Given the description of an element on the screen output the (x, y) to click on. 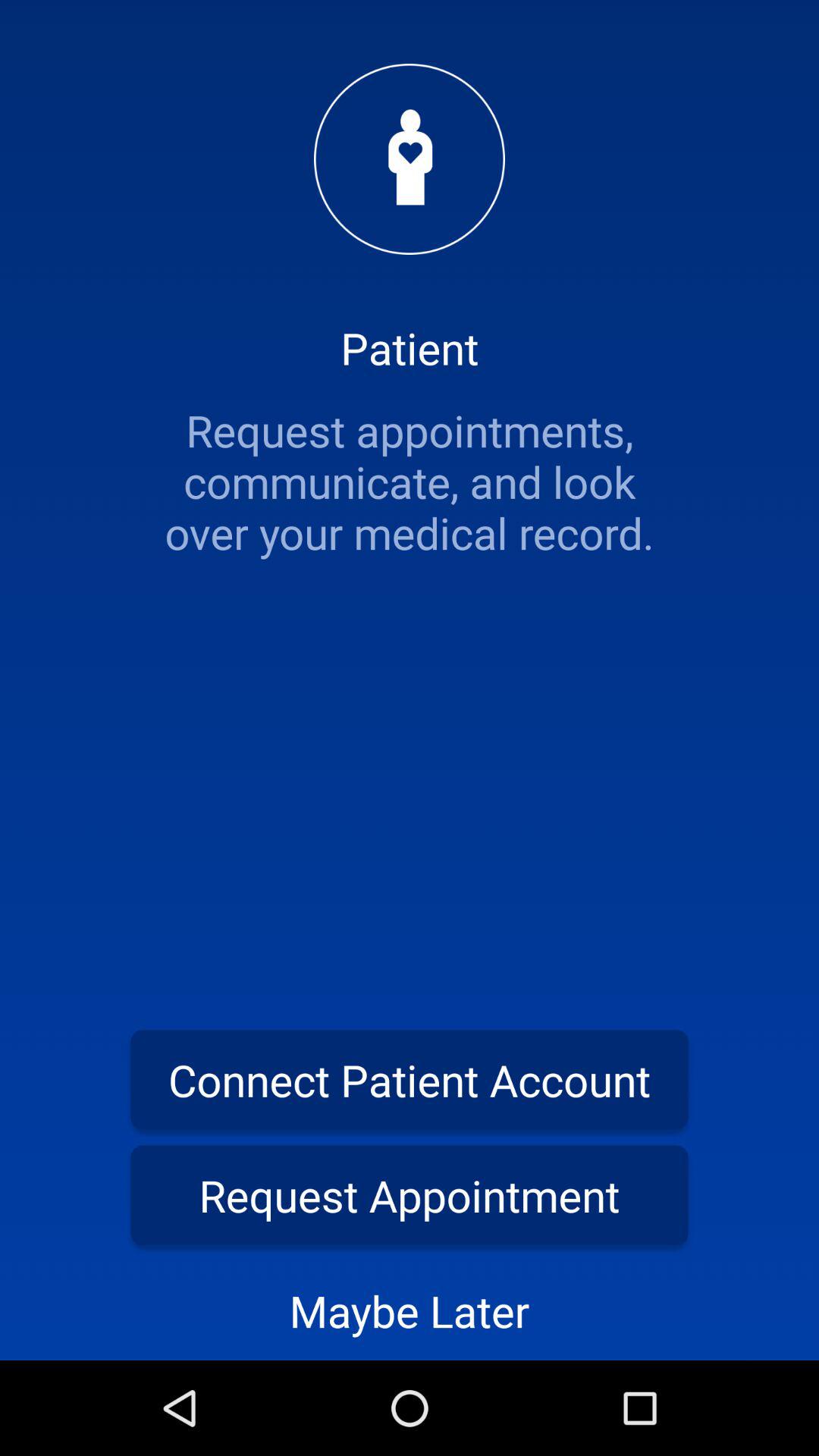
turn on the item above the request appointment item (409, 1079)
